Given the description of an element on the screen output the (x, y) to click on. 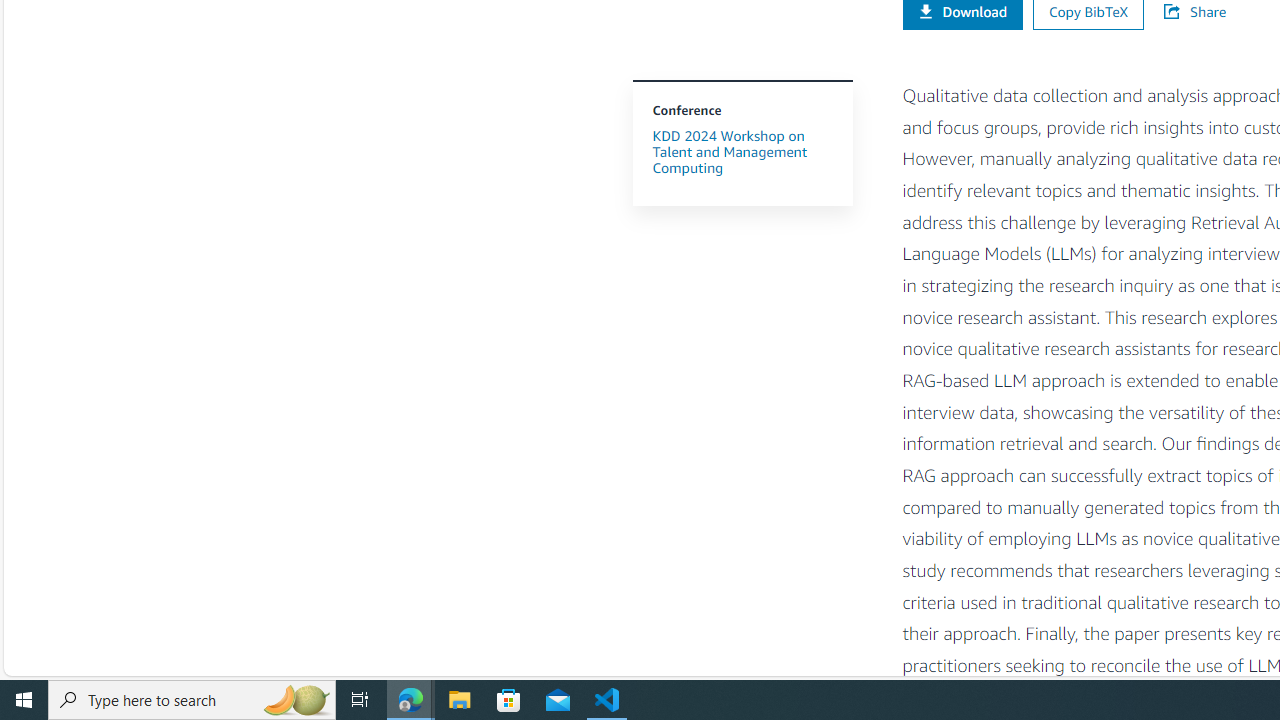
Share (1204, 11)
KDD 2024 Workshop on Talent and Management Computing (729, 151)
KDD 2024 Workshop on Talent and Management Computing (742, 151)
